Given the description of an element on the screen output the (x, y) to click on. 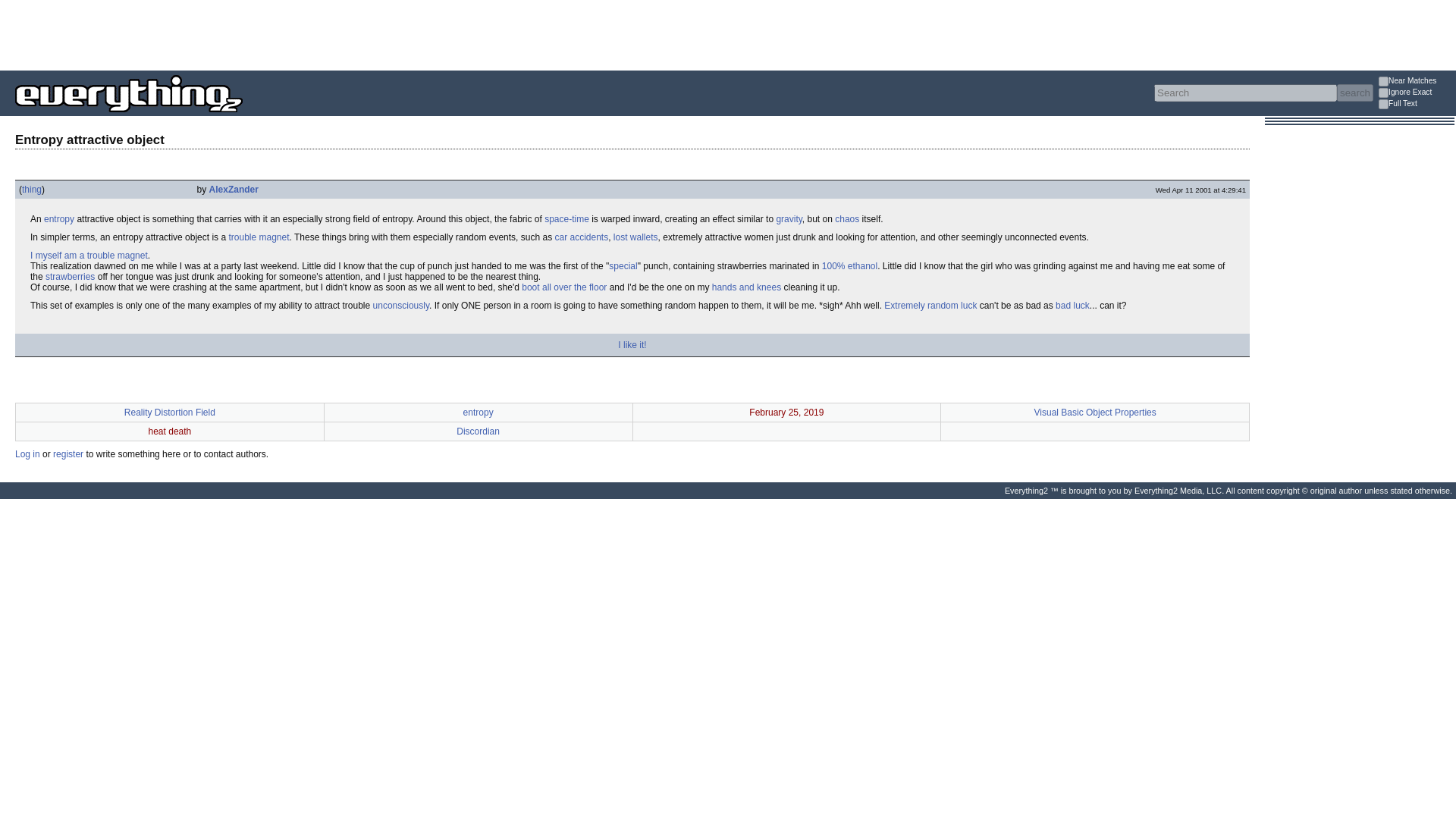
1 (1383, 103)
Visual Basic Object Properties (1094, 412)
I like it! (631, 344)
1 (1383, 92)
unconsciously (400, 305)
chaos (846, 218)
Apr 11 2001 at 4:29:41 (1201, 189)
search (1354, 92)
bad luck (1072, 305)
space-time (566, 218)
lost wallets (635, 236)
AlexZander (234, 189)
February 25, 2019 (786, 412)
Extremely random luck (929, 305)
boot all over the floor (564, 286)
